Given the description of an element on the screen output the (x, y) to click on. 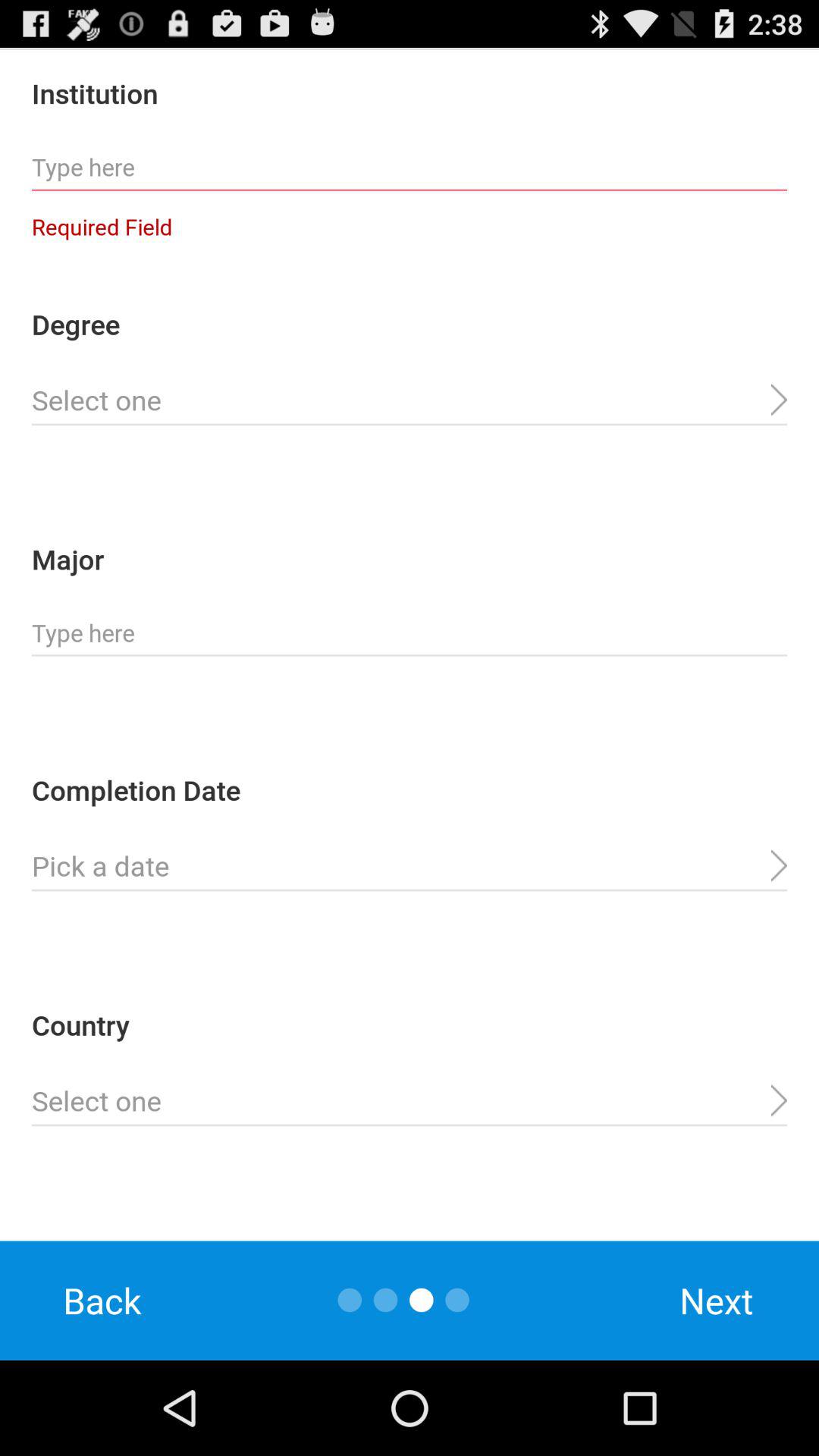
select country (409, 1101)
